Given the description of an element on the screen output the (x, y) to click on. 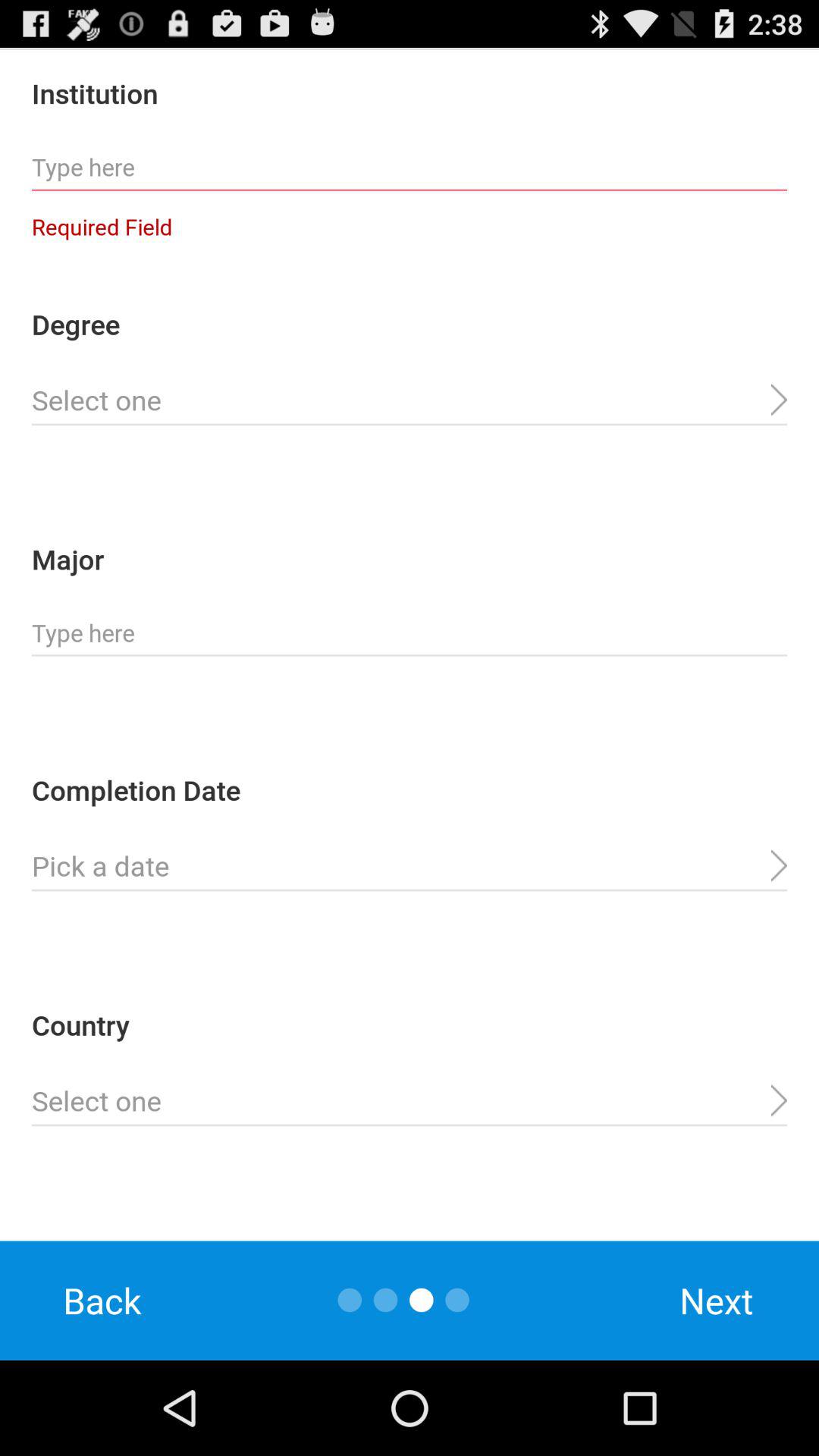
select country (409, 1101)
